Given the description of an element on the screen output the (x, y) to click on. 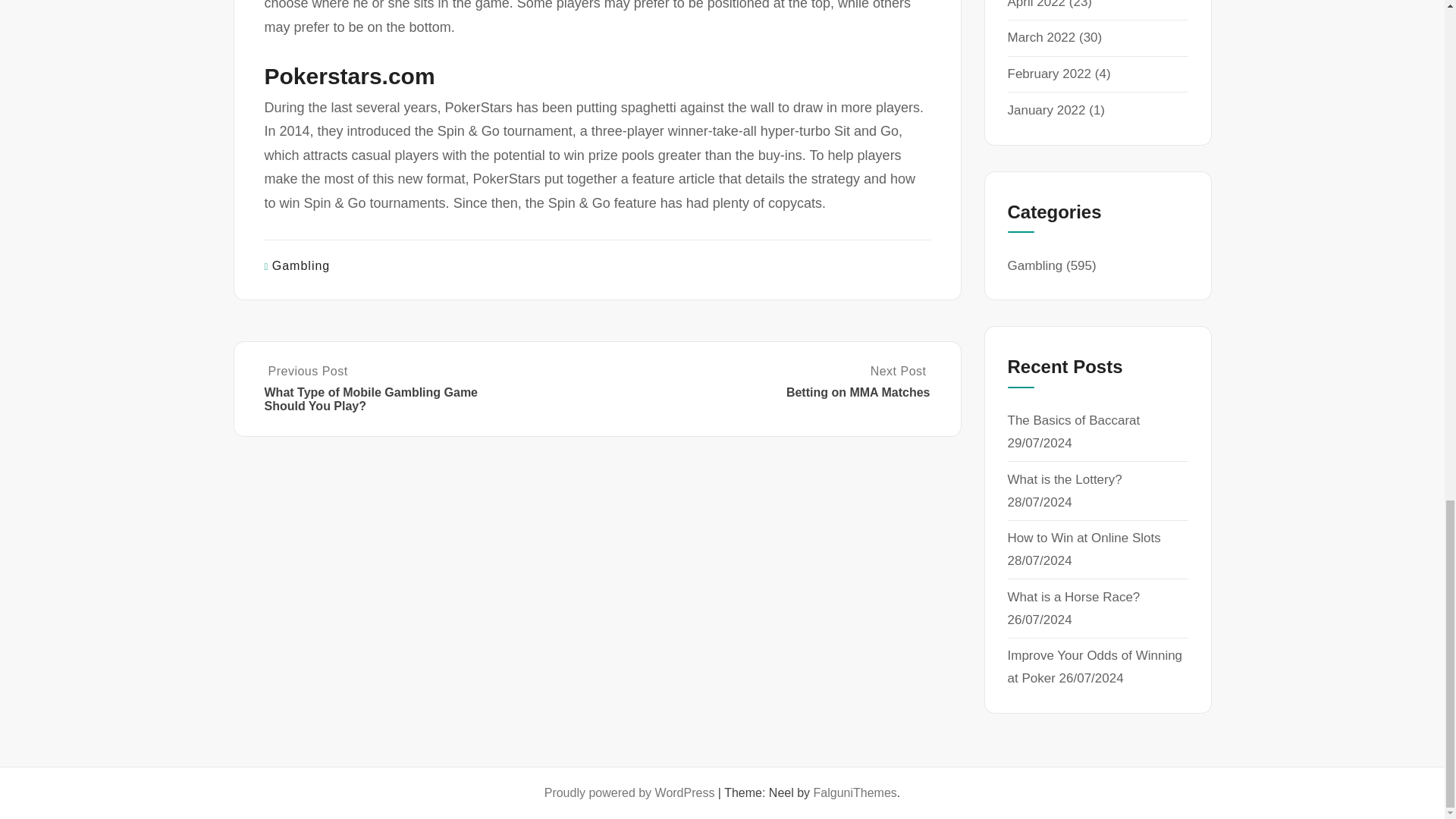
Gambling (301, 265)
